Given the description of an element on the screen output the (x, y) to click on. 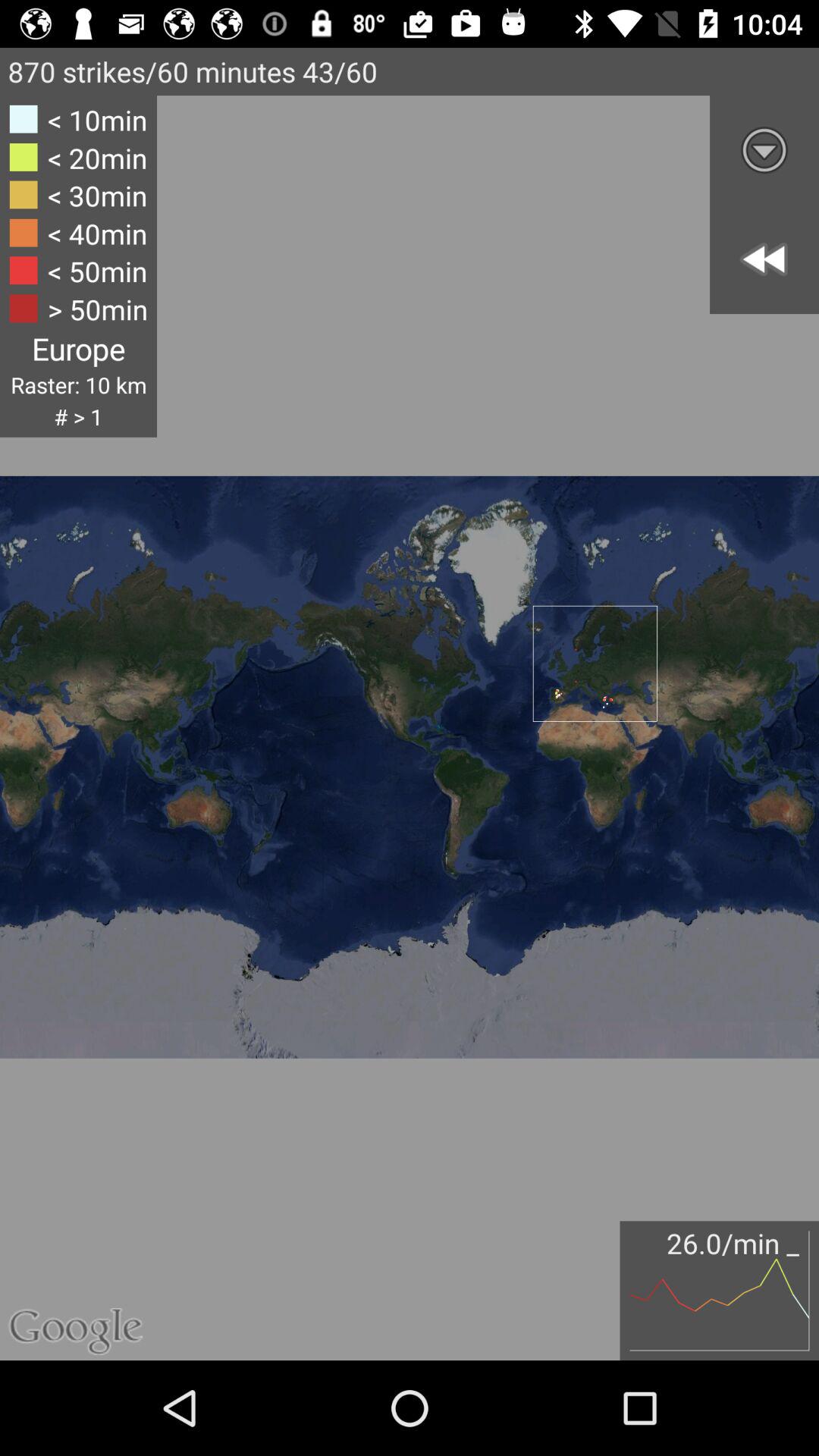
tap the icon below 870 strikes 60 item (764, 149)
